Given the description of an element on the screen output the (x, y) to click on. 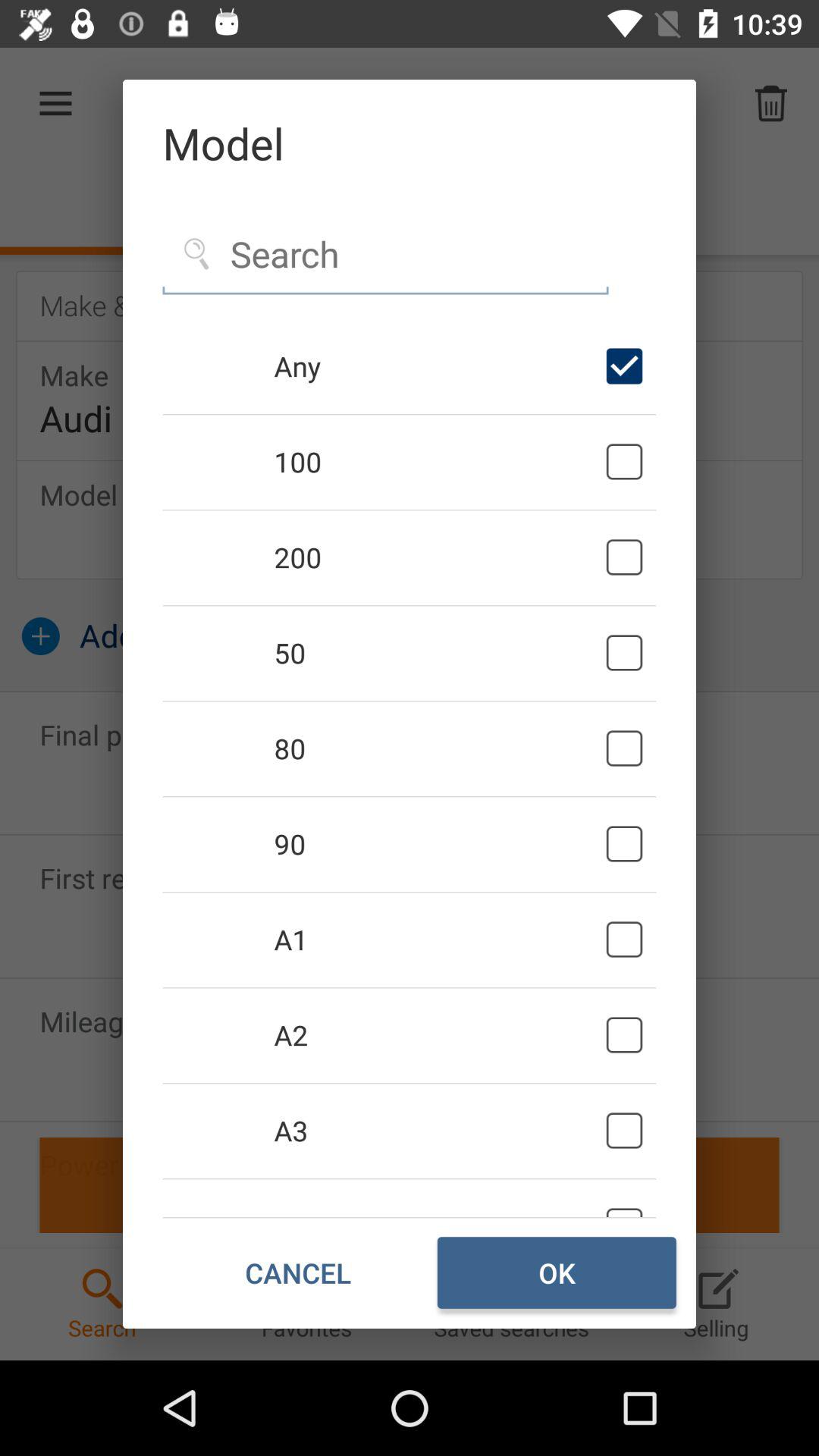
search function (385, 254)
